Given the description of an element on the screen output the (x, y) to click on. 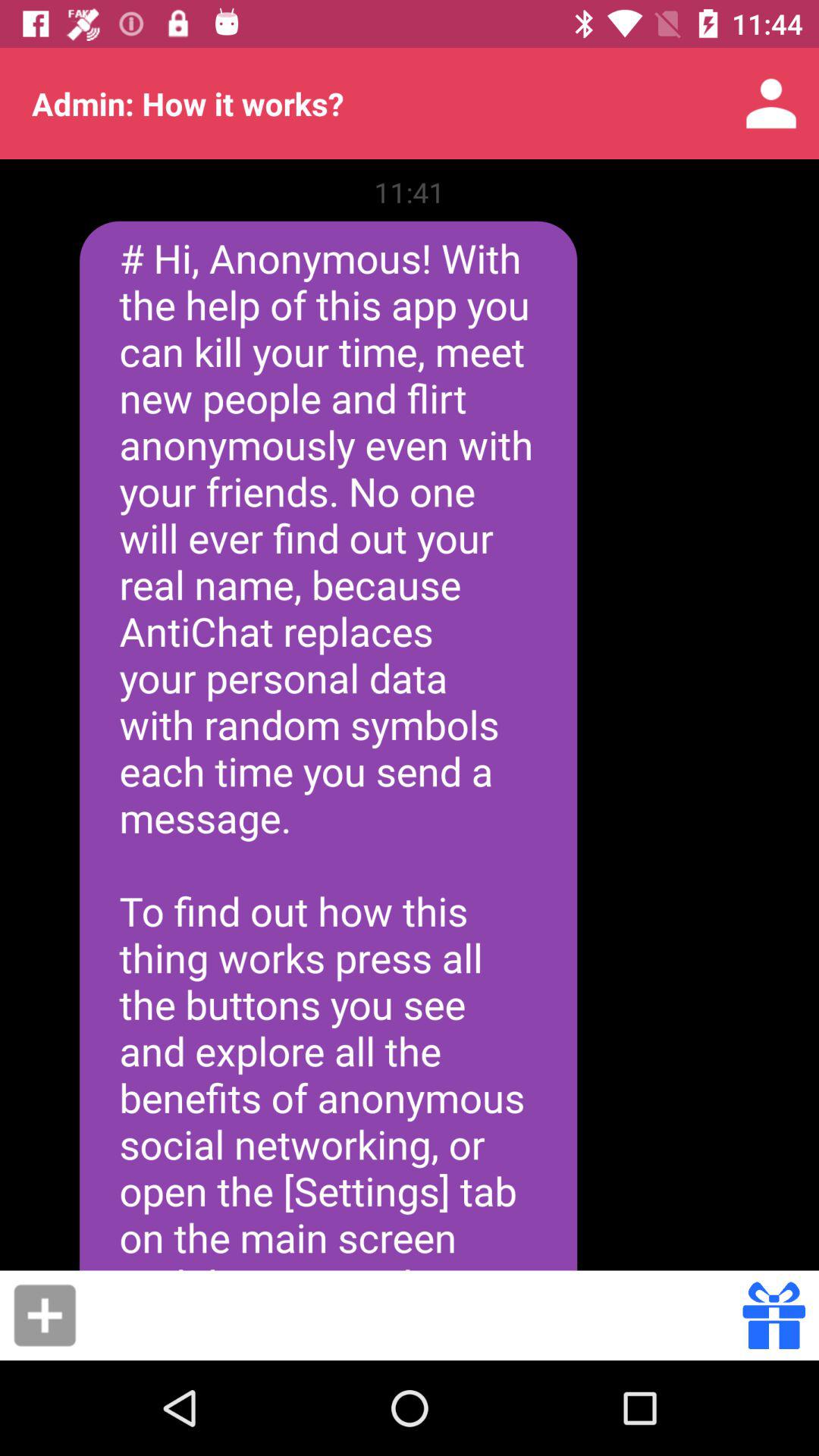
launch 11:41 (409, 192)
